Given the description of an element on the screen output the (x, y) to click on. 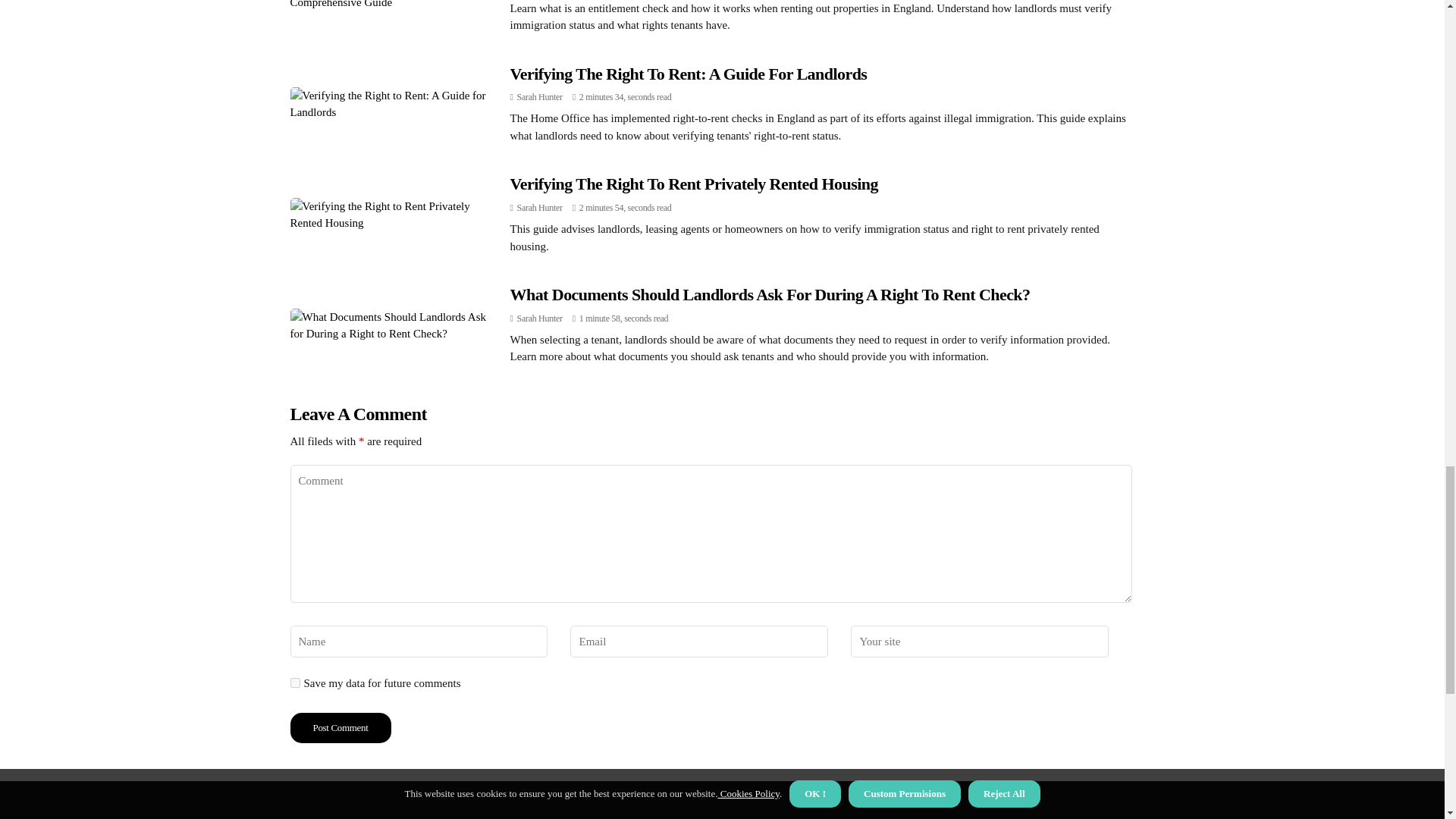
Posts by Sarah Hunter (539, 96)
Posts by Sarah Hunter (539, 317)
Sarah Hunter (539, 317)
Post Comment (339, 727)
Post Comment (339, 727)
Posts by Sarah Hunter (539, 207)
Sarah Hunter (539, 96)
Sarah Hunter (539, 207)
yes (294, 682)
Verifying The Right To Rent Privately Rented Housing (693, 183)
Verifying The Right To Rent: A Guide For Landlords (687, 73)
